Given the description of an element on the screen output the (x, y) to click on. 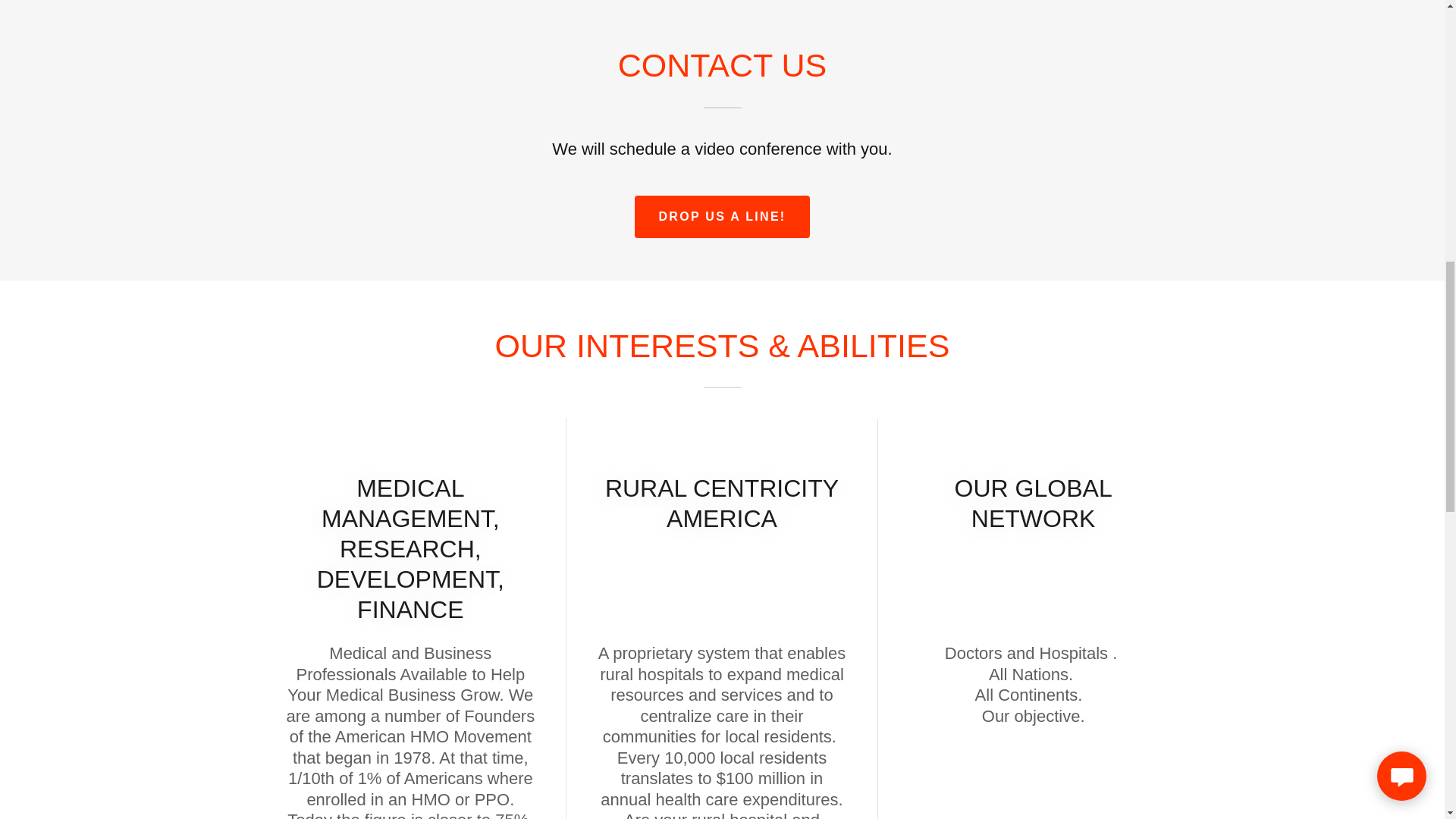
DROP US A LINE! (722, 216)
